Given the description of an element on the screen output the (x, y) to click on. 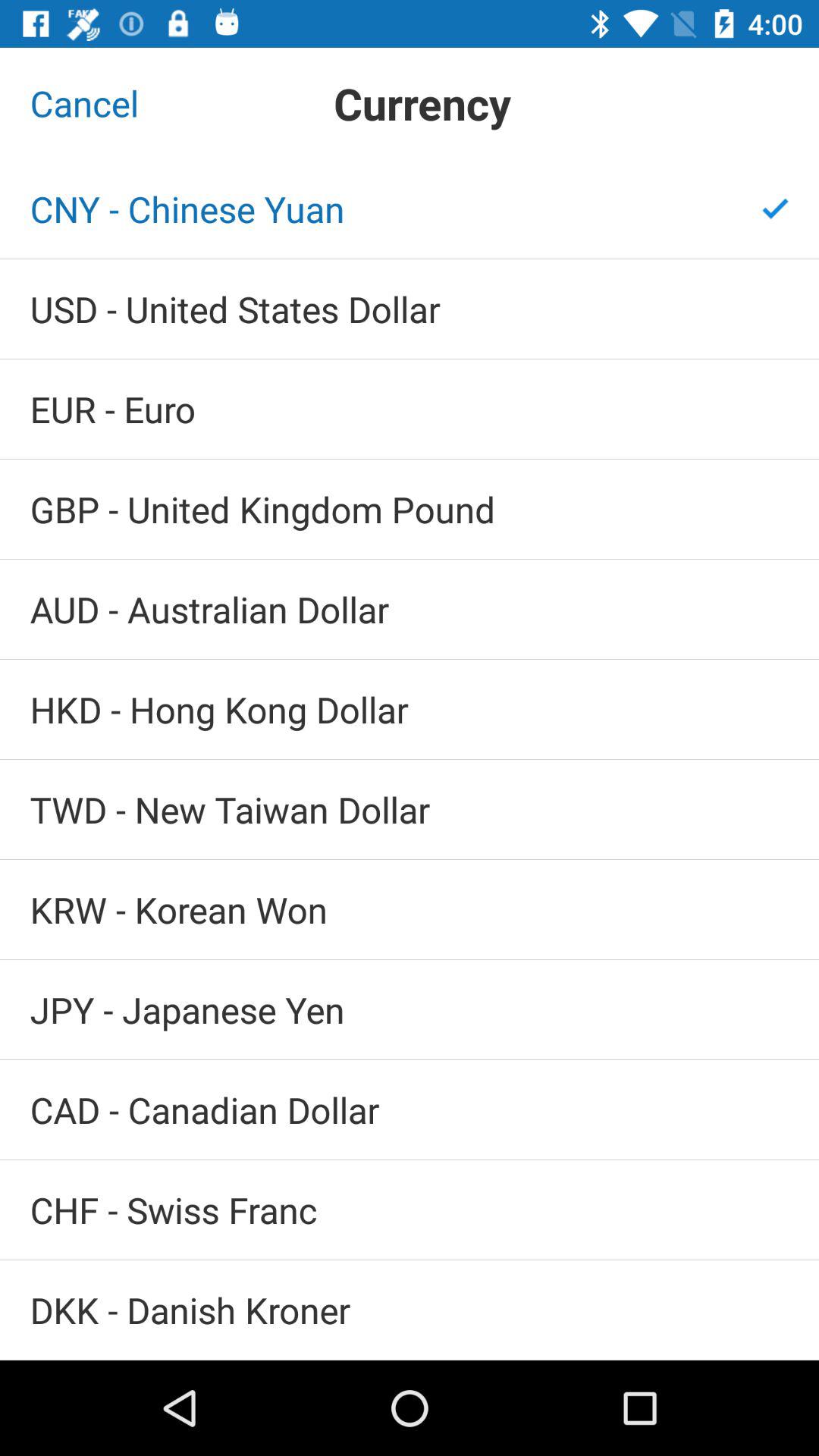
tap item at the top right corner (774, 208)
